Given the description of an element on the screen output the (x, y) to click on. 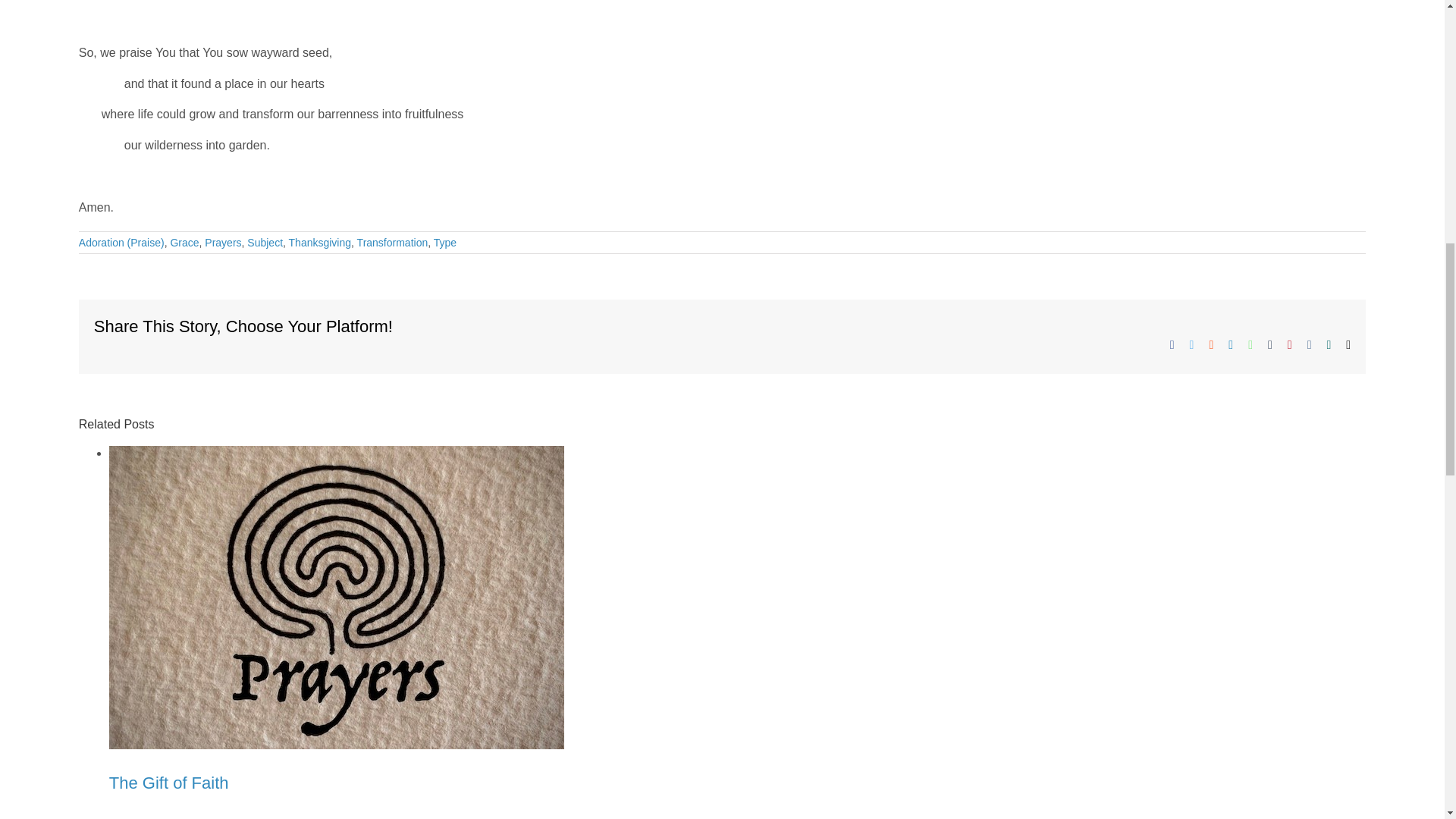
Prayers (223, 242)
The Gift of Faith (168, 782)
Grace (184, 242)
Type (445, 242)
Subject (264, 242)
Transformation (392, 242)
Thanksgiving (320, 242)
